Given the description of an element on the screen output the (x, y) to click on. 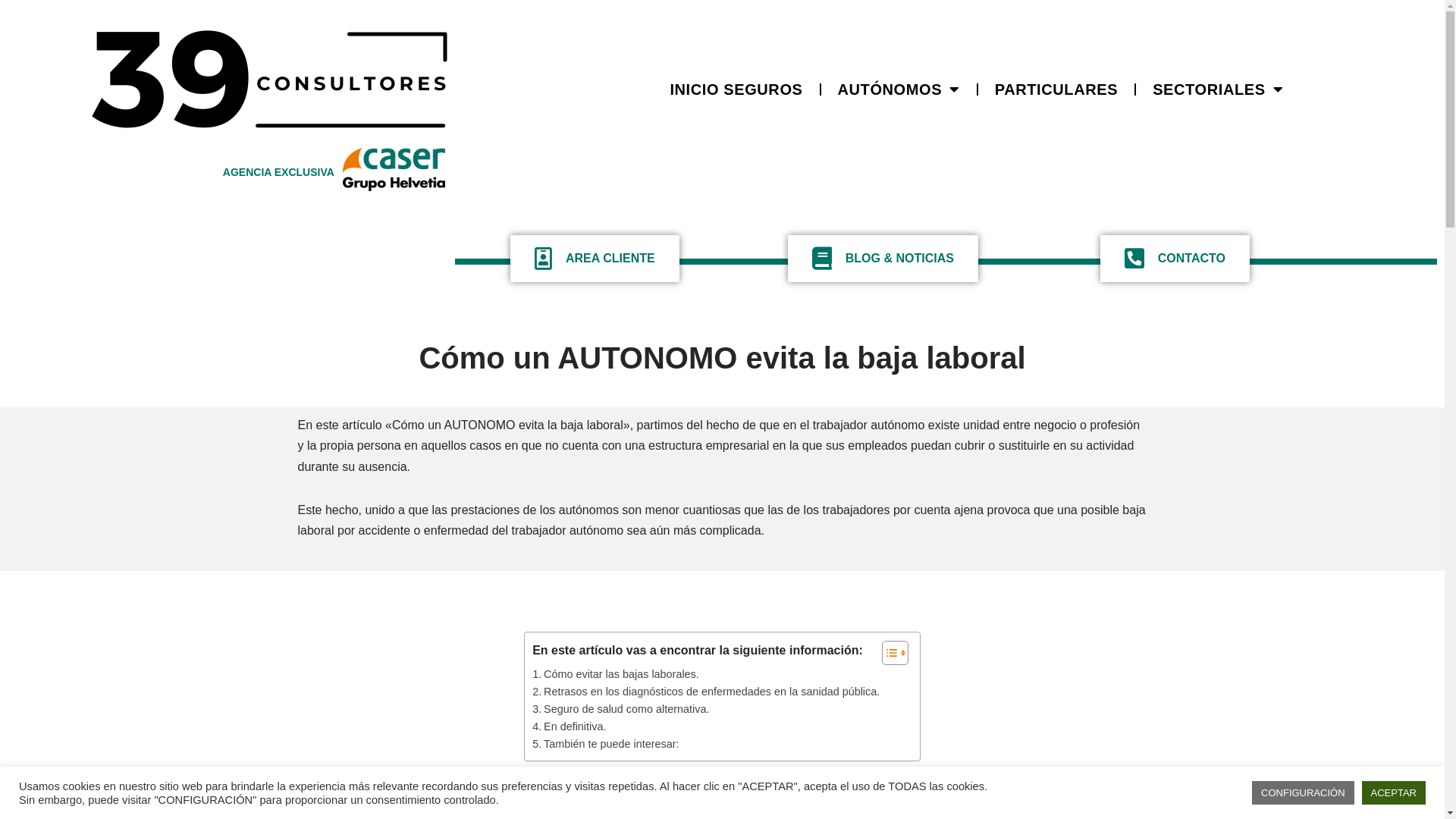
AREA CLIENTE Element type: text (594, 258)
CONTACTO Element type: text (1174, 258)
Seguro de salud como alternativa. Element type: text (620, 709)
BLOG & NOTICIAS Element type: text (882, 258)
Saltar al contenido Element type: text (11, 31)
En definitiva. Element type: text (568, 726)
SECTORIALES Element type: text (1217, 89)
INICIO SEGUROS Element type: text (735, 89)
PARTICULARES Element type: text (1055, 89)
ACEPTAR Element type: text (1393, 792)
